Given the description of an element on the screen output the (x, y) to click on. 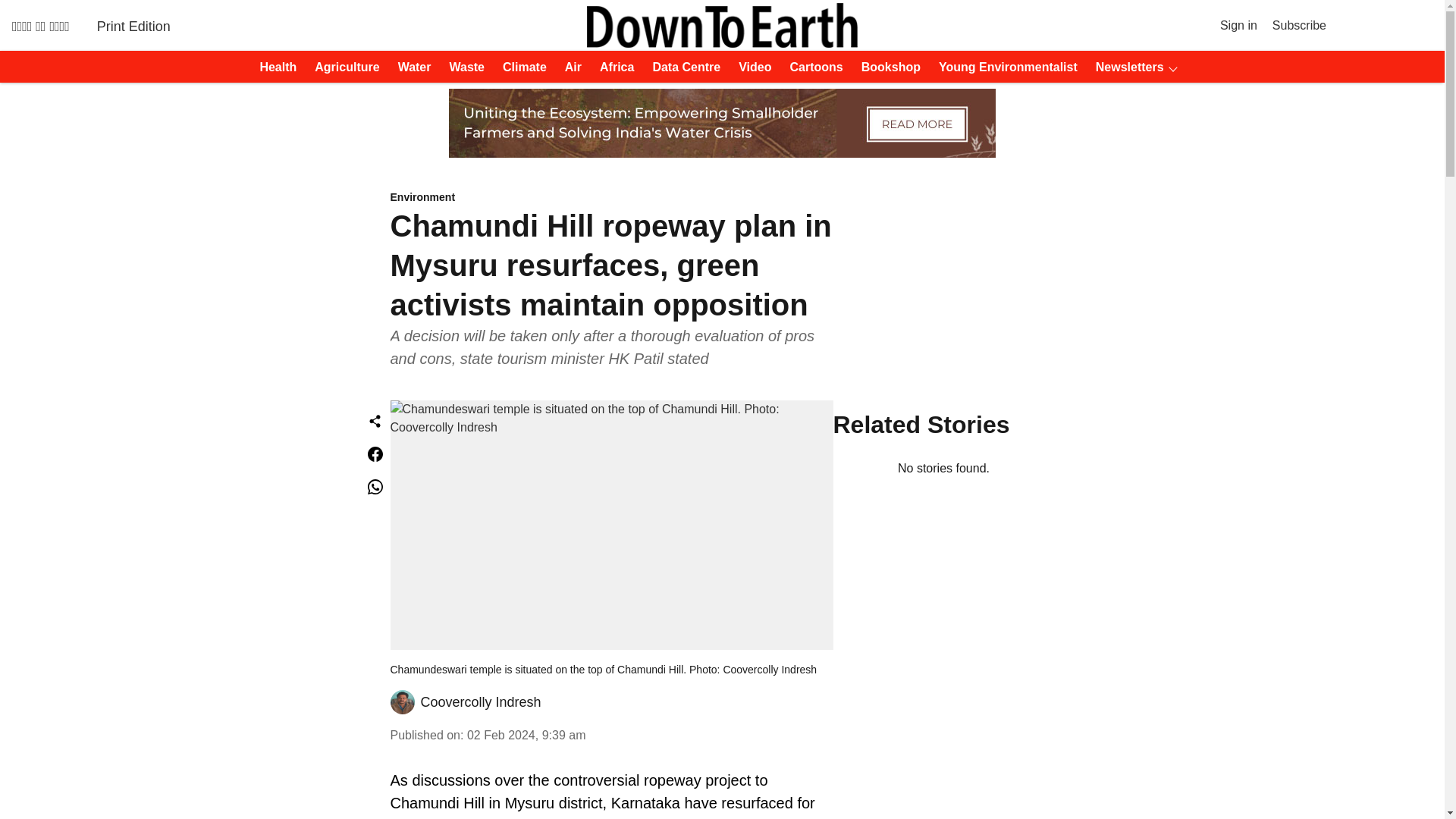
Climate (520, 67)
Young Environmentalist (1003, 67)
Health (273, 67)
Environment (611, 198)
Video (750, 67)
Data Centre (681, 67)
Africa (612, 67)
2024-02-02 01:39 (526, 735)
Print Edition (133, 26)
Cartoons (811, 67)
Bookshop (885, 67)
Coovercolly Indresh (480, 702)
Water (409, 67)
Agriculture (341, 67)
Waste (461, 67)
